Given the description of an element on the screen output the (x, y) to click on. 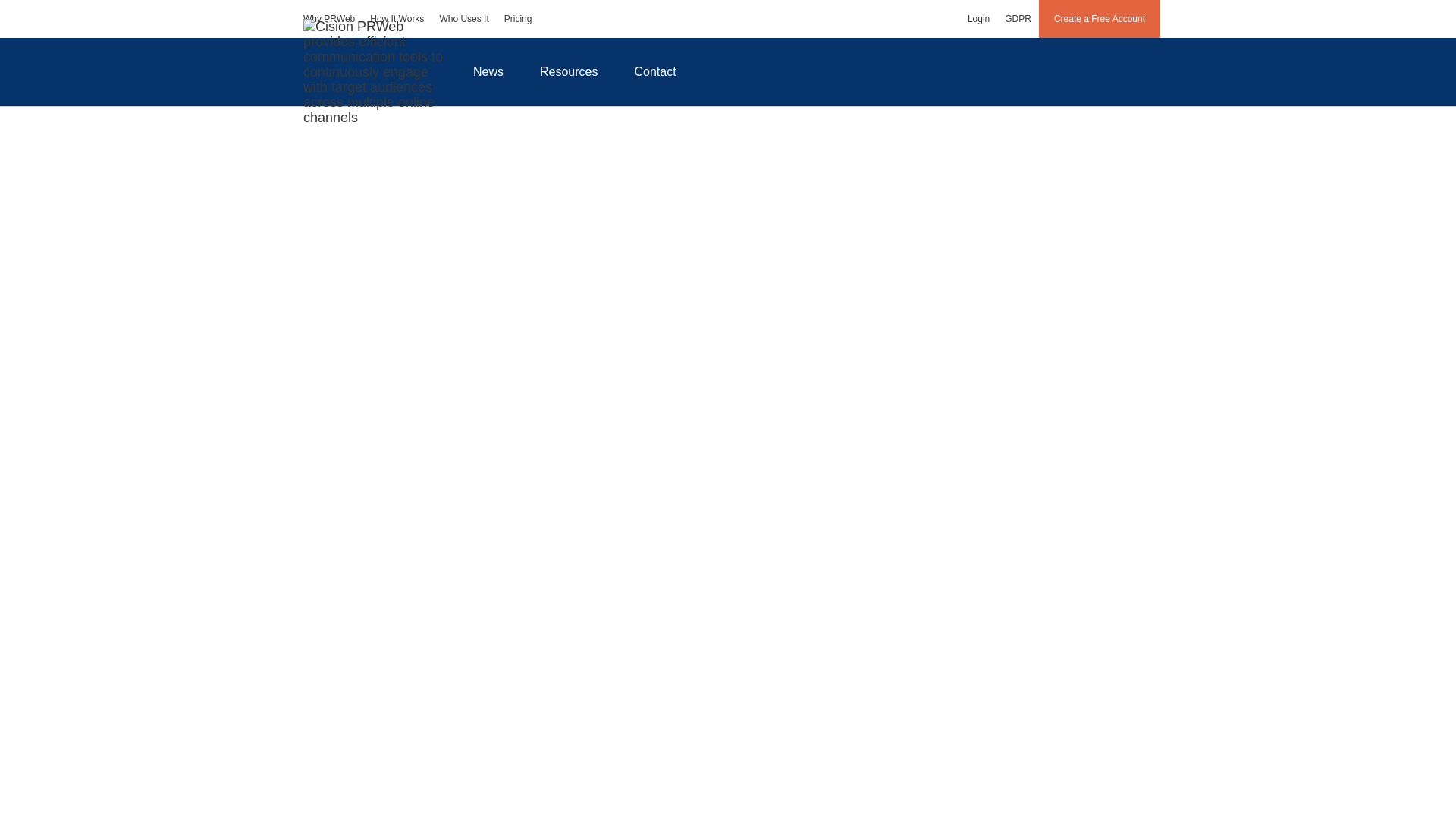
Create a Free Account (1099, 18)
How It Works (396, 18)
Pricing (518, 18)
Contact (654, 71)
Why PRWeb (328, 18)
News (487, 71)
Resources (568, 71)
GDPR (1018, 18)
Login (978, 18)
Who Uses It (463, 18)
